Given the description of an element on the screen output the (x, y) to click on. 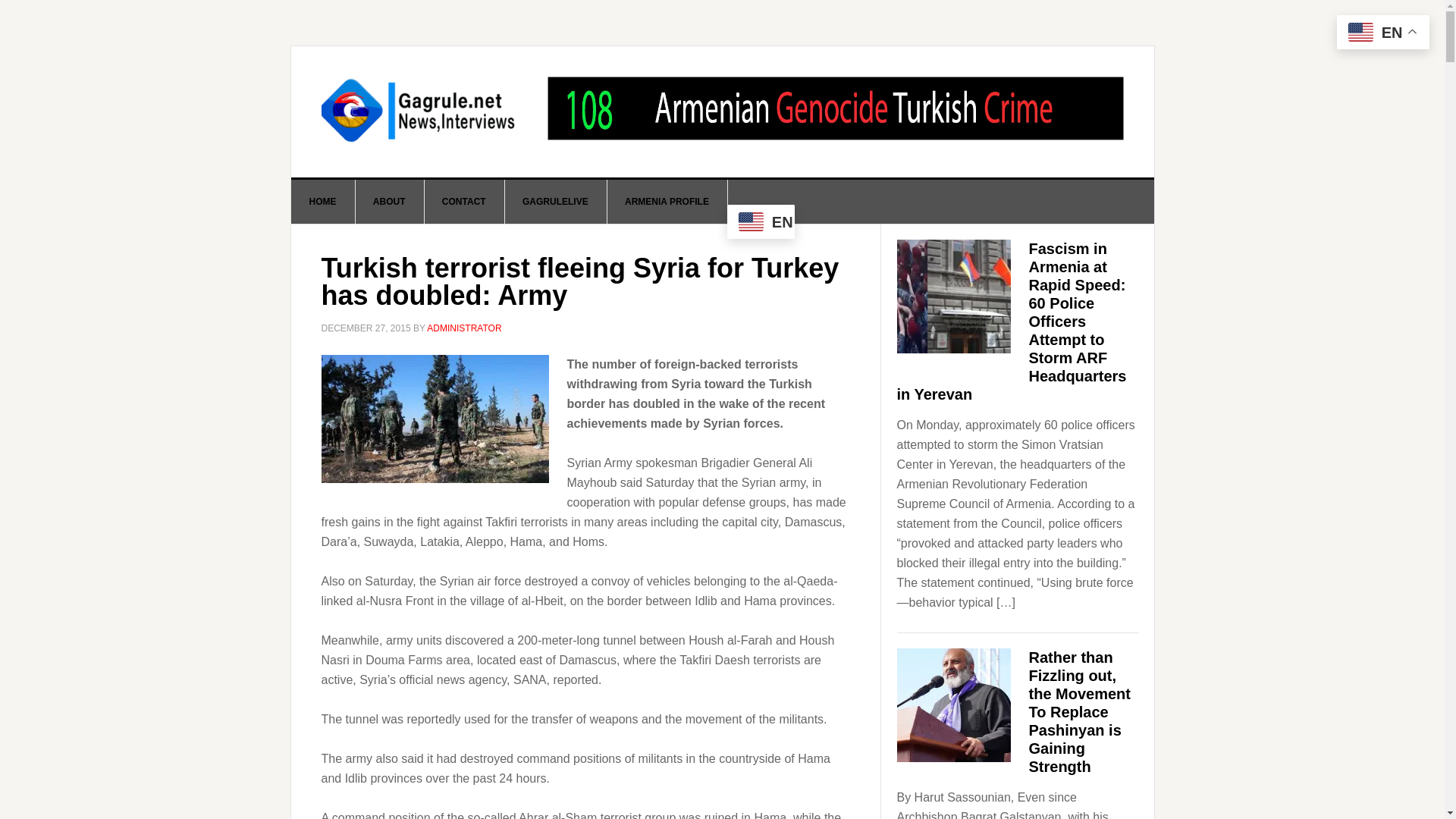
ABOUT (390, 201)
GAGRULELIVE (555, 201)
ADMINISTRATOR (463, 327)
ARMENIA PROFILE (667, 201)
HOME (323, 201)
Contact (464, 201)
GAGRULE.NET (419, 110)
CONTACT (464, 201)
About (390, 201)
